Given the description of an element on the screen output the (x, y) to click on. 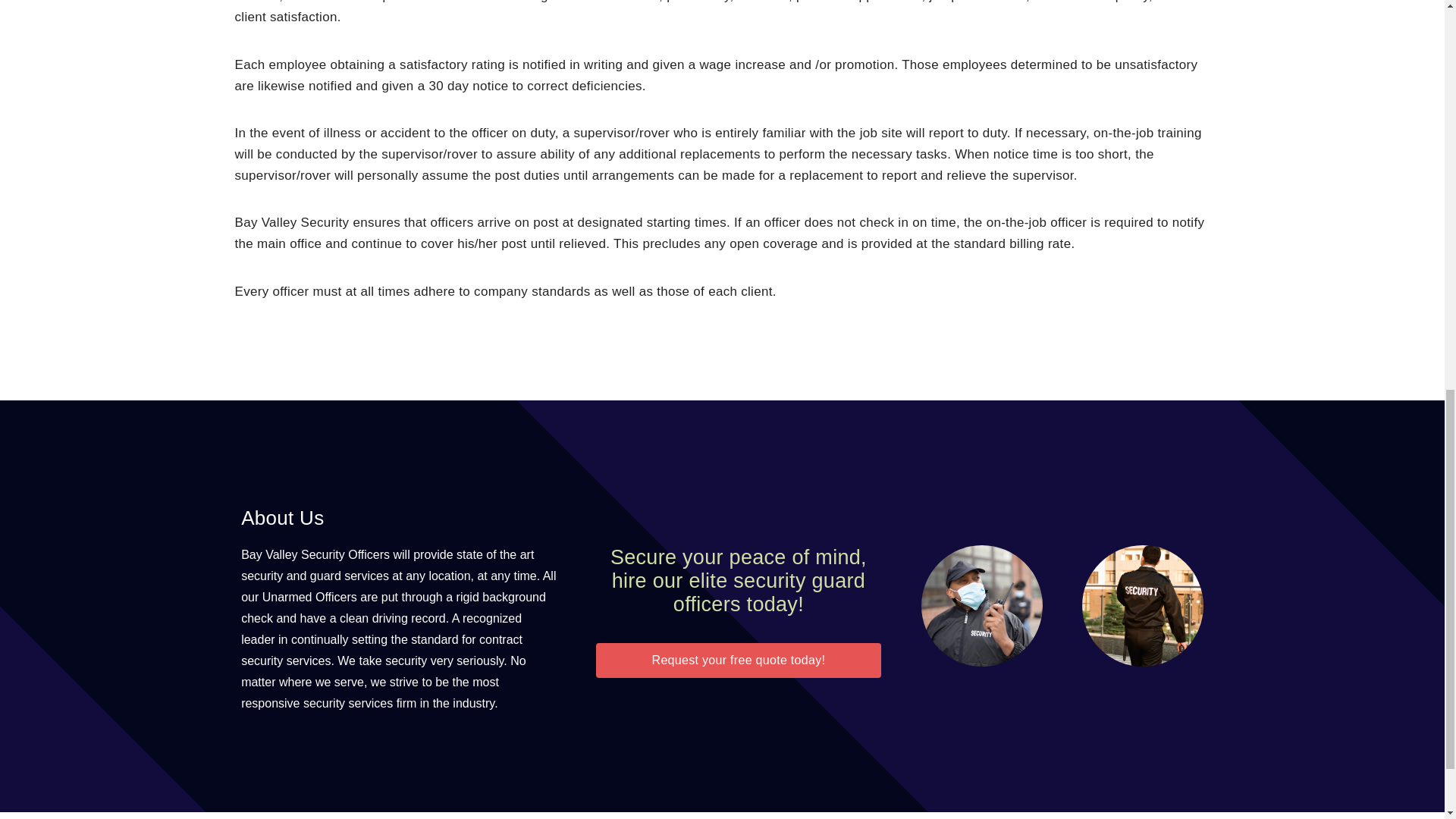
Request your free quote today! (737, 660)
